Given the description of an element on the screen output the (x, y) to click on. 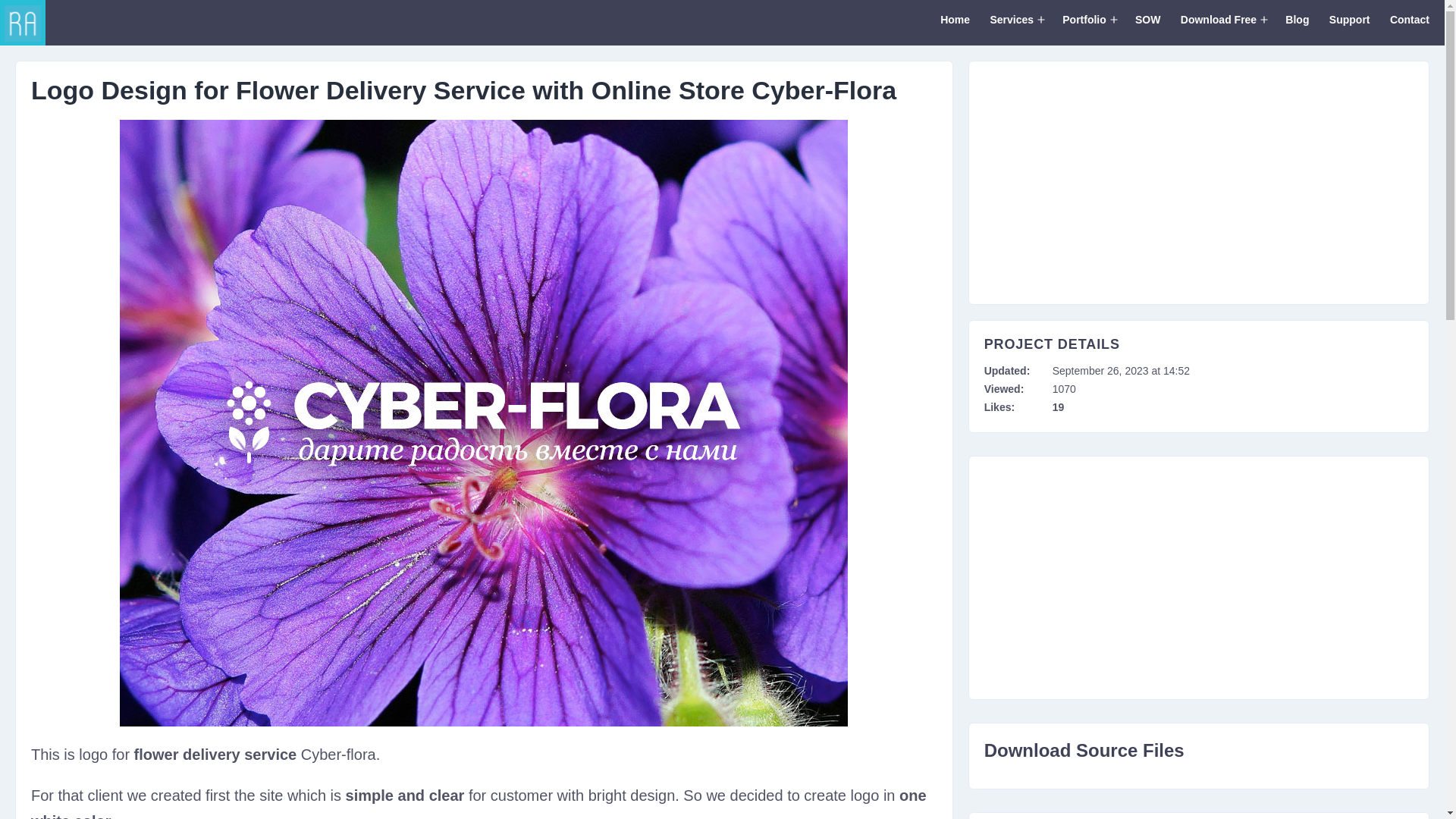
Blog (1297, 22)
Home (954, 22)
SOW (1147, 22)
Download Free (1218, 22)
Portfolio (1084, 22)
Services (1011, 22)
Advertisement (1198, 577)
Advertisement (1198, 182)
